Given the description of an element on the screen output the (x, y) to click on. 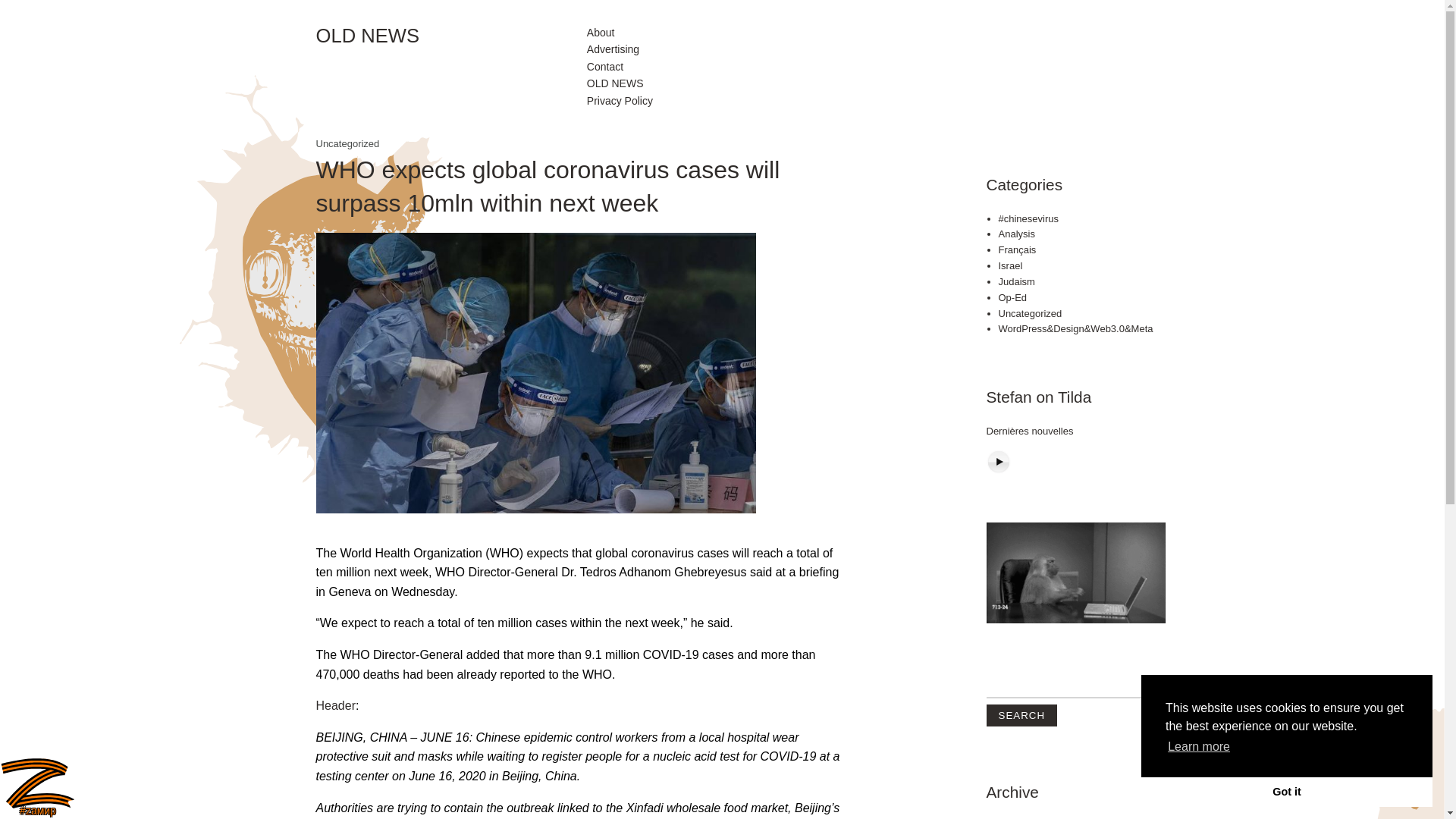
Uncategorized (1029, 313)
OLD NEWS (614, 83)
OLD NEWS (450, 35)
Advertising (612, 48)
Uncategorized (346, 143)
Search (1021, 715)
Contact (604, 66)
Got it (1286, 791)
Privacy Policy (619, 100)
Search (1021, 715)
